Given the description of an element on the screen output the (x, y) to click on. 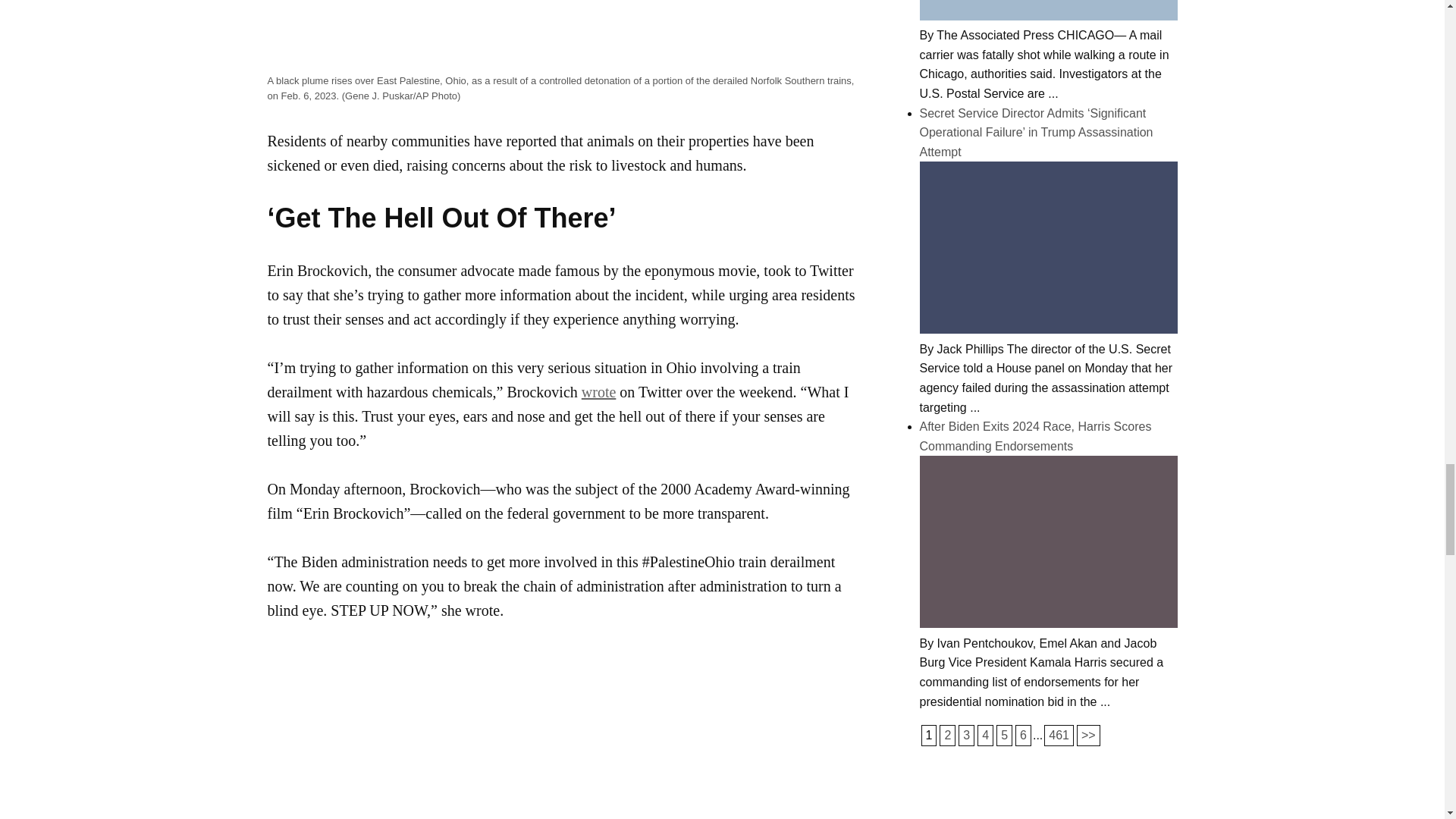
wrote (597, 392)
Chicago Mail Carrier Killed on Her Route (1047, 15)
